Given the description of an element on the screen output the (x, y) to click on. 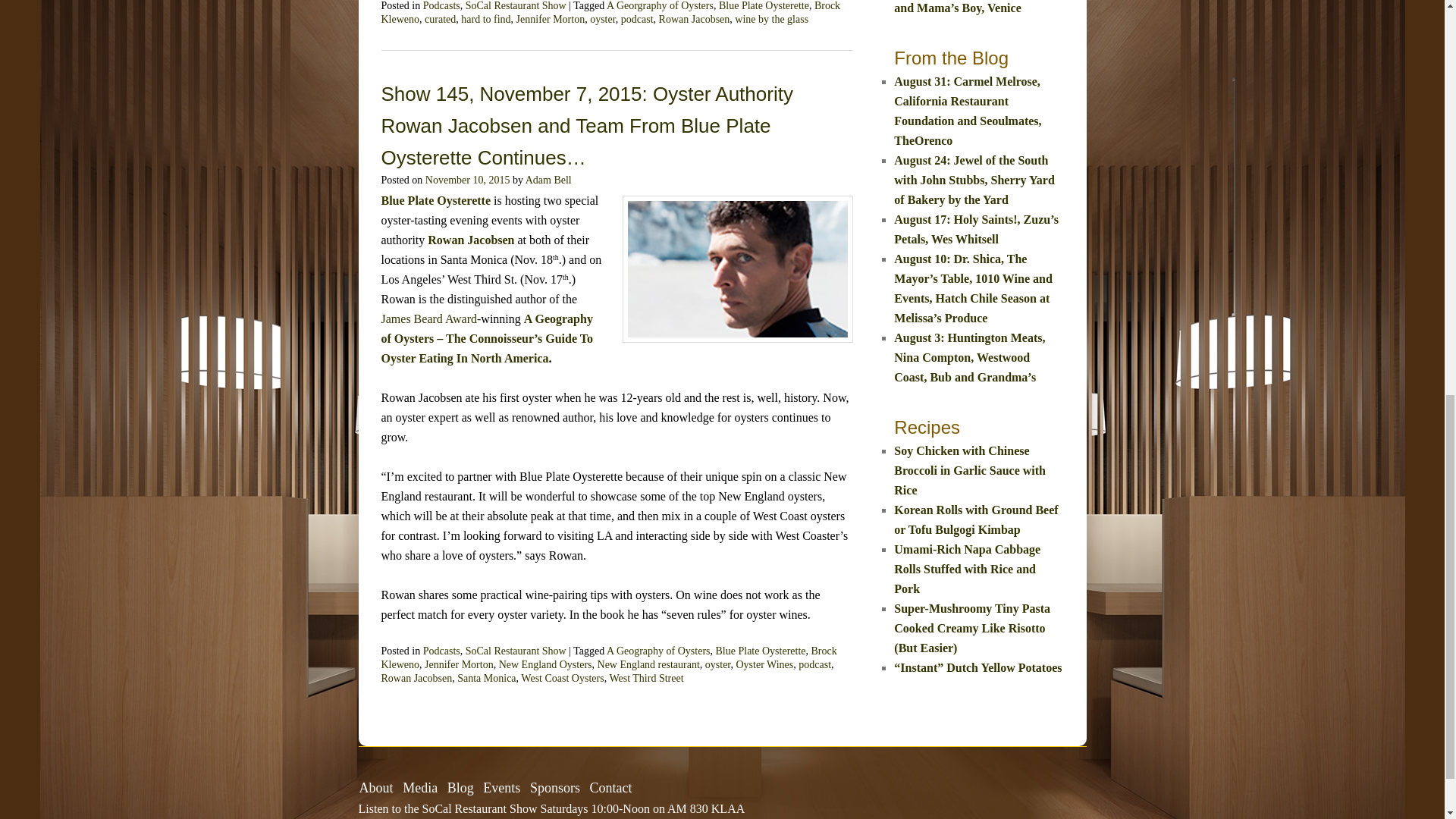
Brock Kleweno (610, 12)
podcast (637, 19)
SoCal Restaurant Show (515, 5)
A Georgraphy of Oysters (660, 5)
Podcasts (441, 5)
hard to find (486, 19)
curated (440, 19)
Jennifer Morton (550, 19)
Blue Plate Oysterette (764, 5)
oyster (602, 19)
